Given the description of an element on the screen output the (x, y) to click on. 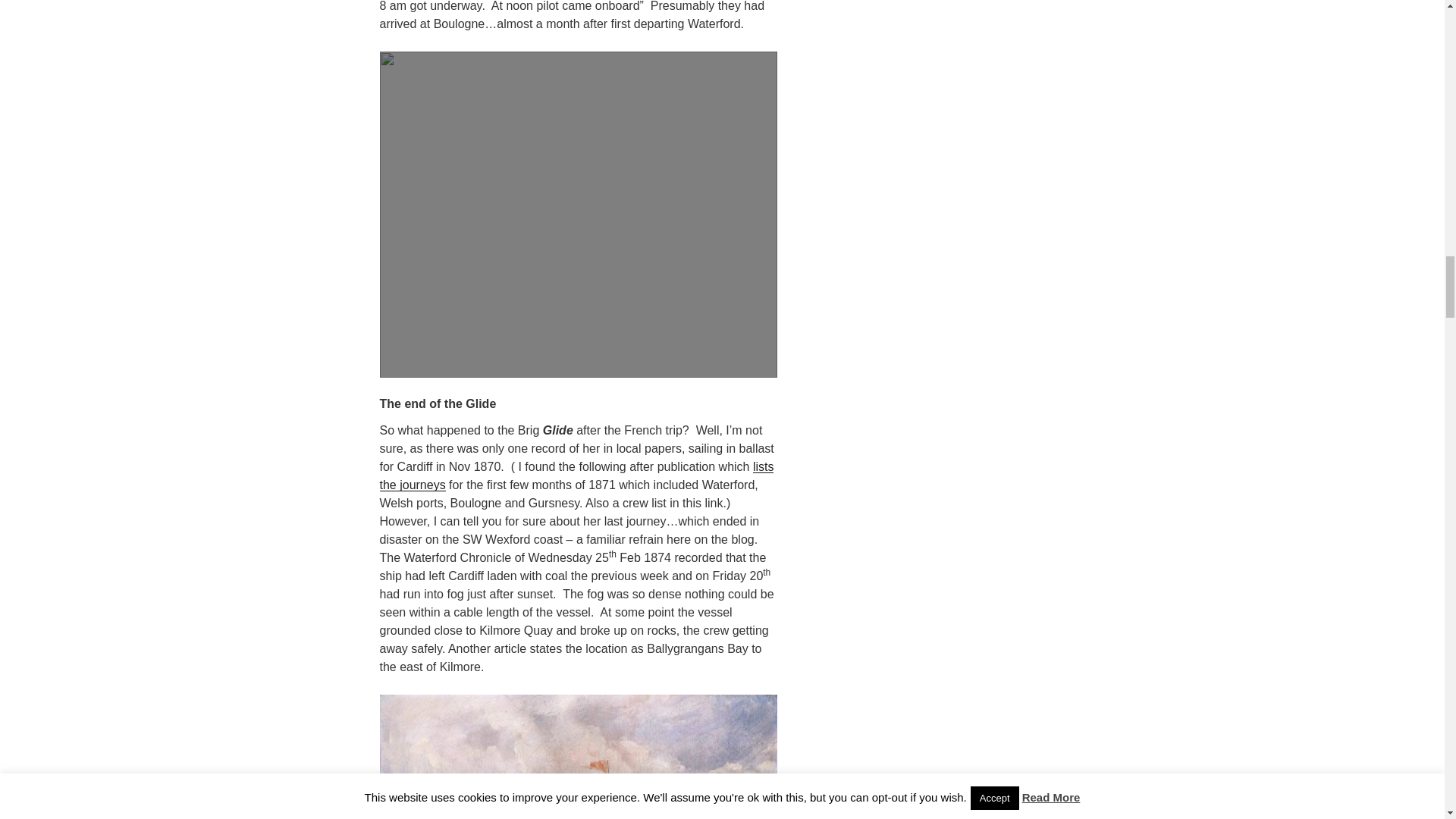
lists the journeys (575, 475)
